Given the description of an element on the screen output the (x, y) to click on. 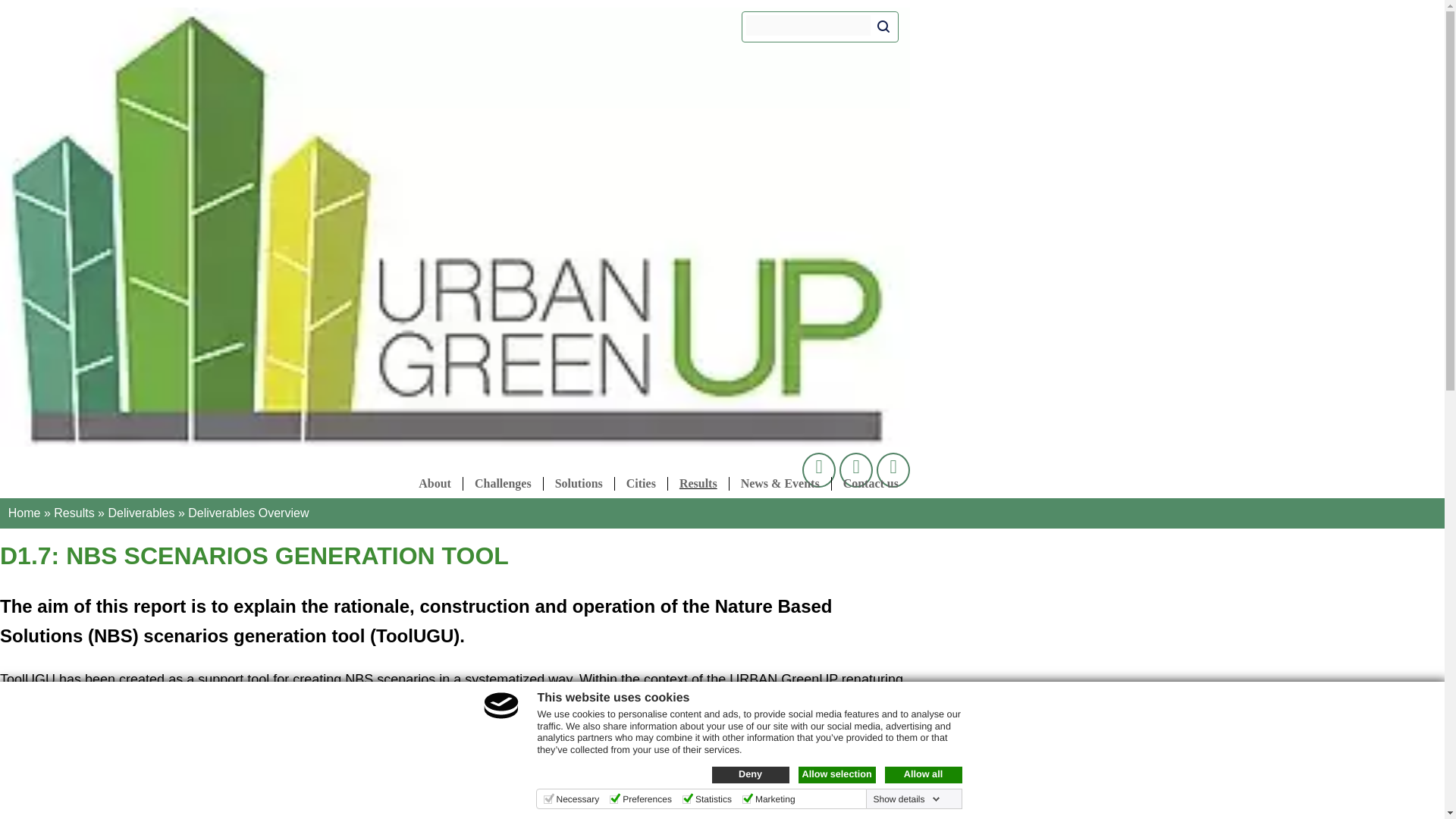
Allow selection (836, 774)
Allow all (921, 774)
Show details (905, 799)
Deny (750, 774)
